Given the description of an element on the screen output the (x, y) to click on. 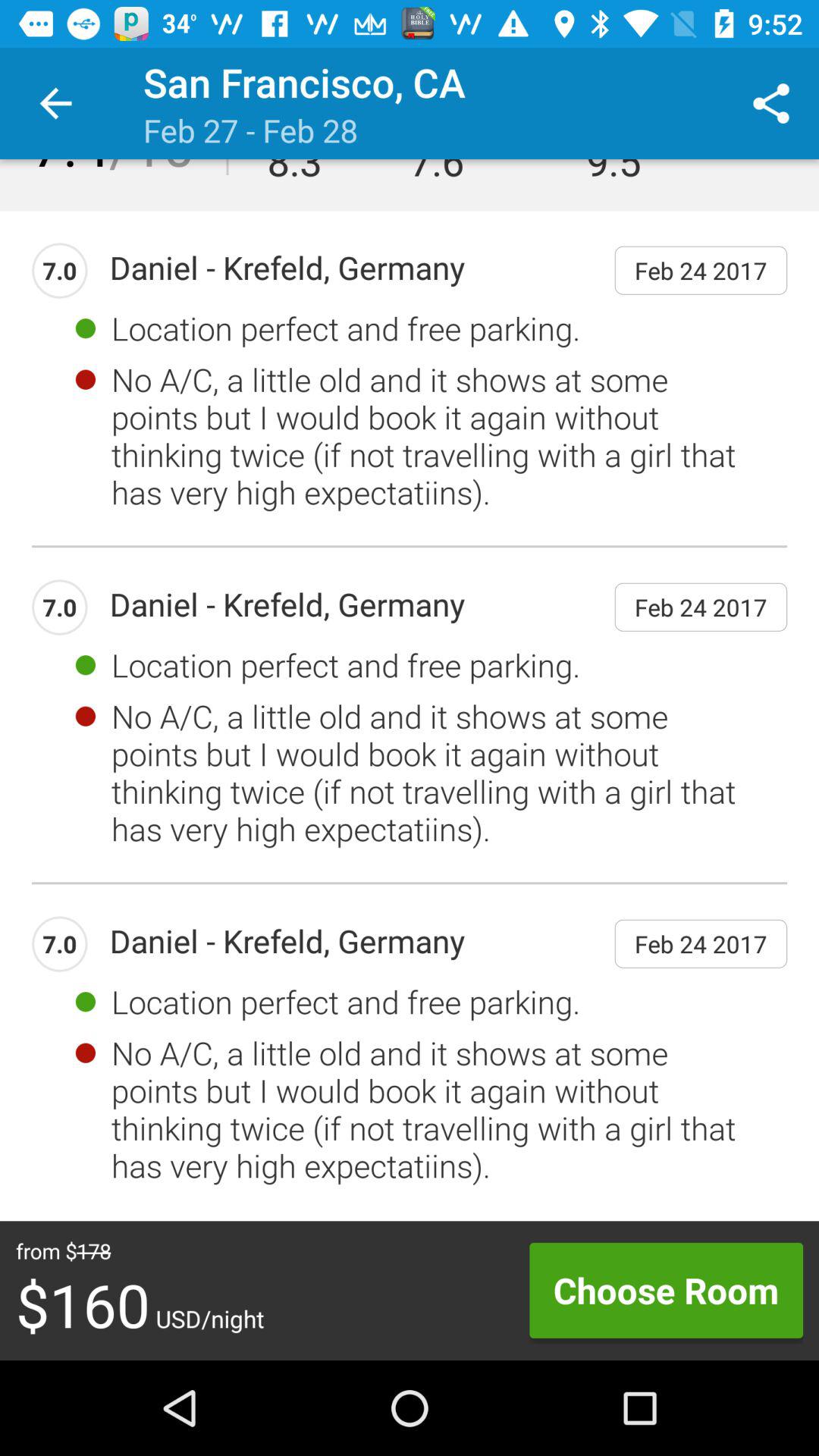
select choose room icon (666, 1290)
